Given the description of an element on the screen output the (x, y) to click on. 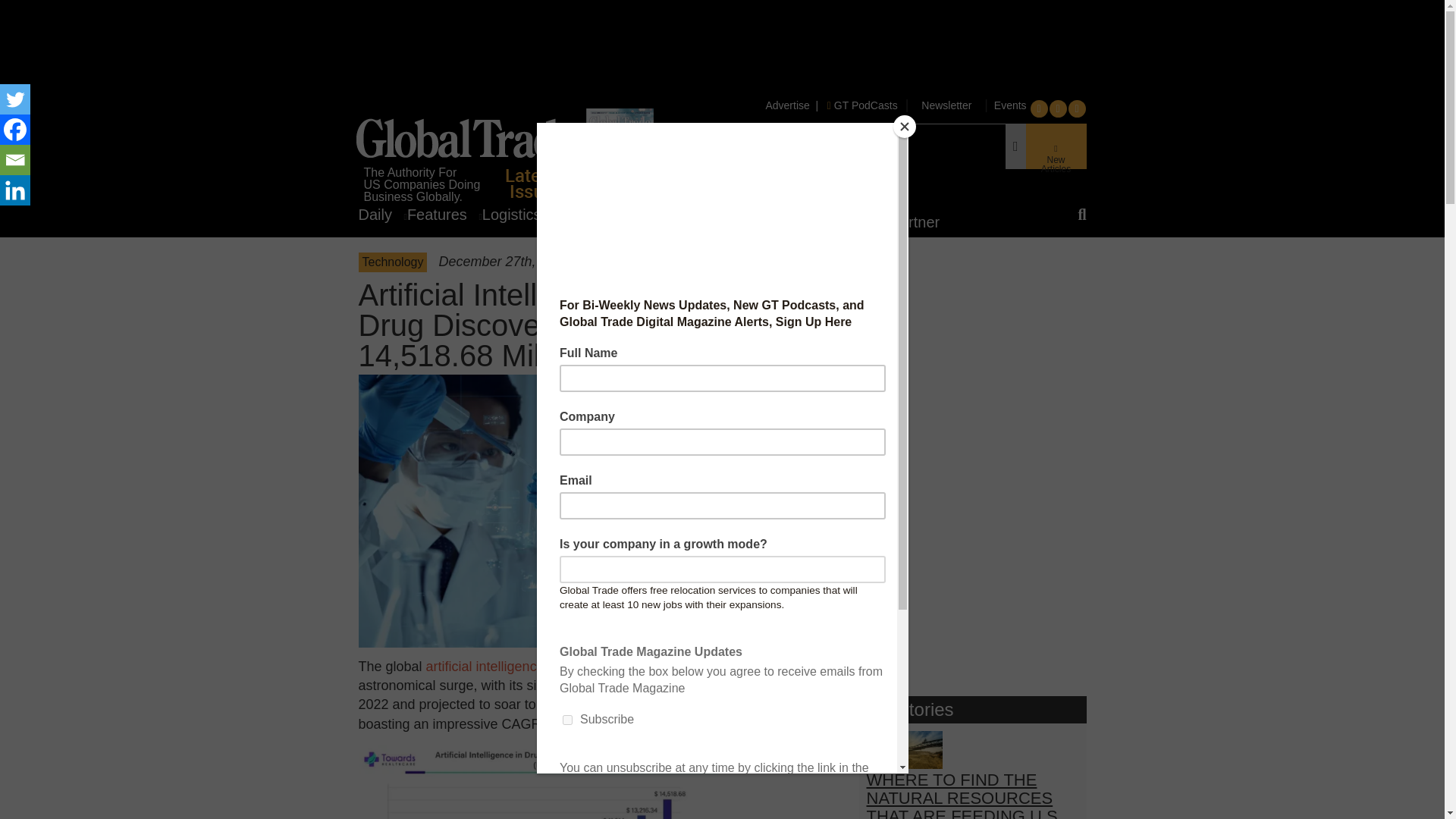
Facebook (15, 129)
  Events  (1008, 105)
Newsletter (945, 105)
Linkedin (15, 190)
Twitter (15, 99)
Email (15, 159)
Top 25 Container Ports In The United States (773, 154)
Daily (382, 214)
GT PodCasts (862, 105)
Hide (5, 219)
